Given the description of an element on the screen output the (x, y) to click on. 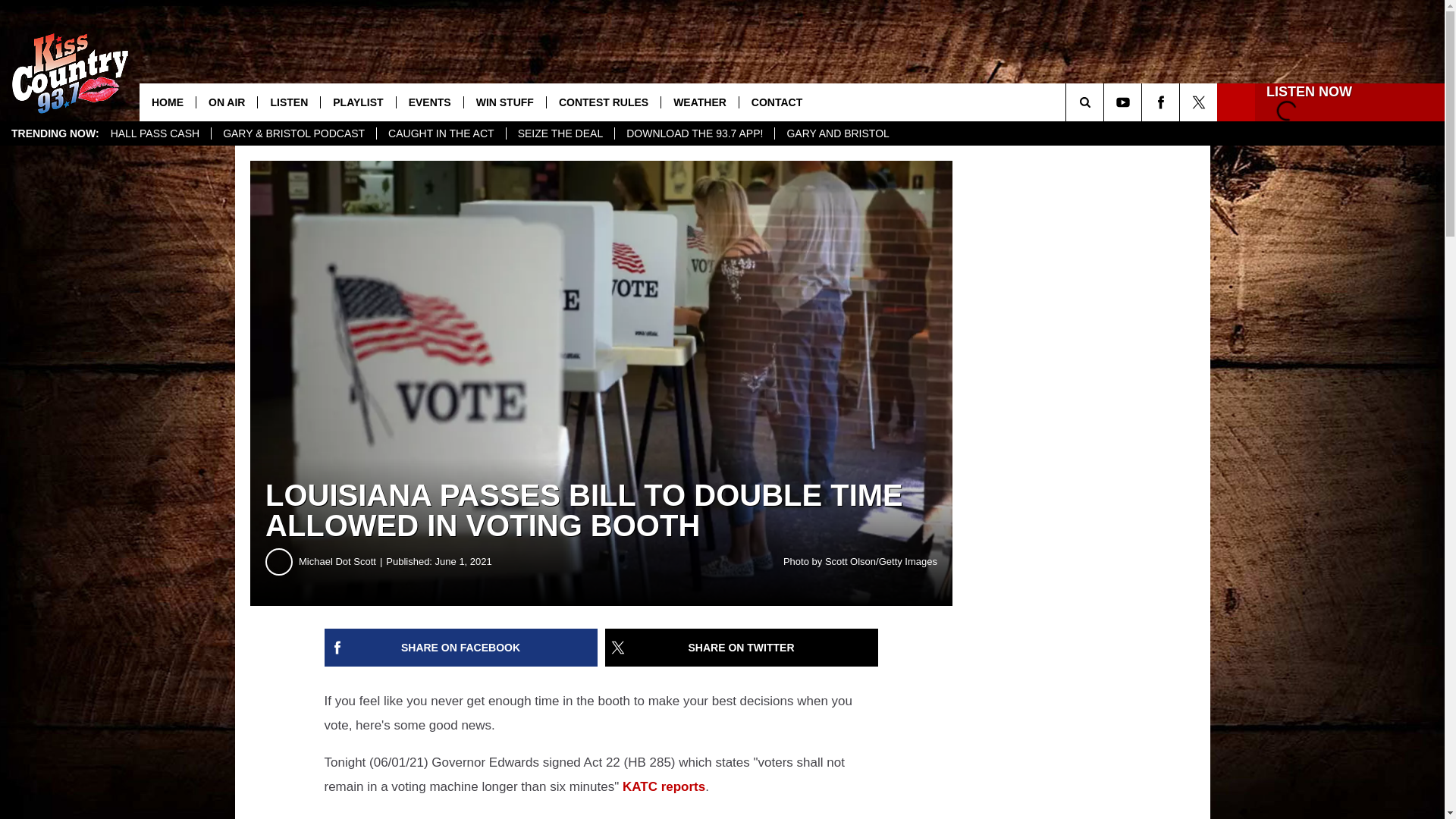
SEARCH (1106, 102)
HOME (167, 102)
WEATHER (699, 102)
HALL PASS CASH (155, 133)
CONTEST RULES (603, 102)
Share on Facebook (460, 647)
PLAYLIST (357, 102)
SEIZE THE DEAL (559, 133)
ON AIR (226, 102)
EVENTS (429, 102)
